Given the description of an element on the screen output the (x, y) to click on. 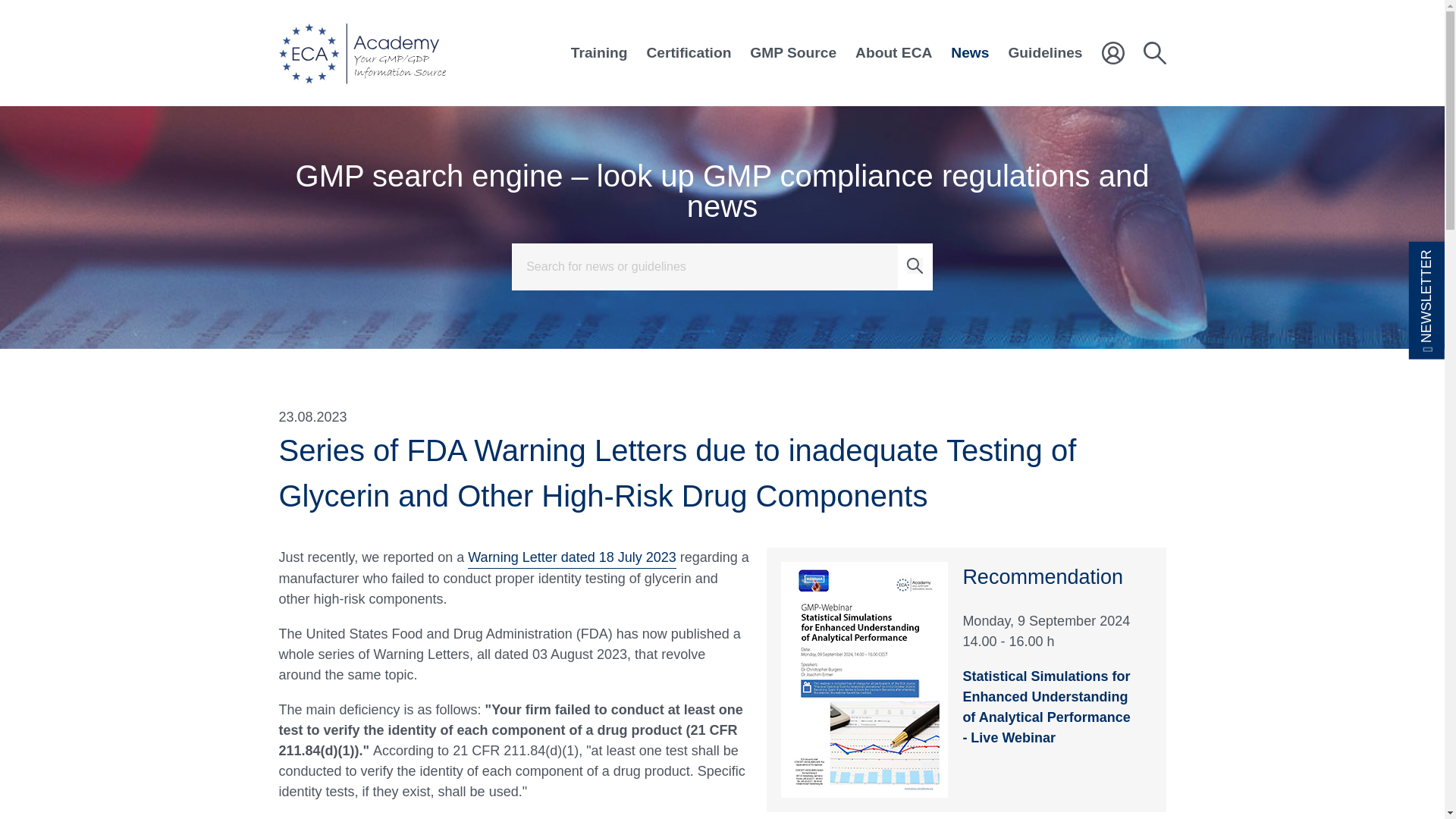
ECA Academy - ECA Academy (362, 53)
